Given the description of an element on the screen output the (x, y) to click on. 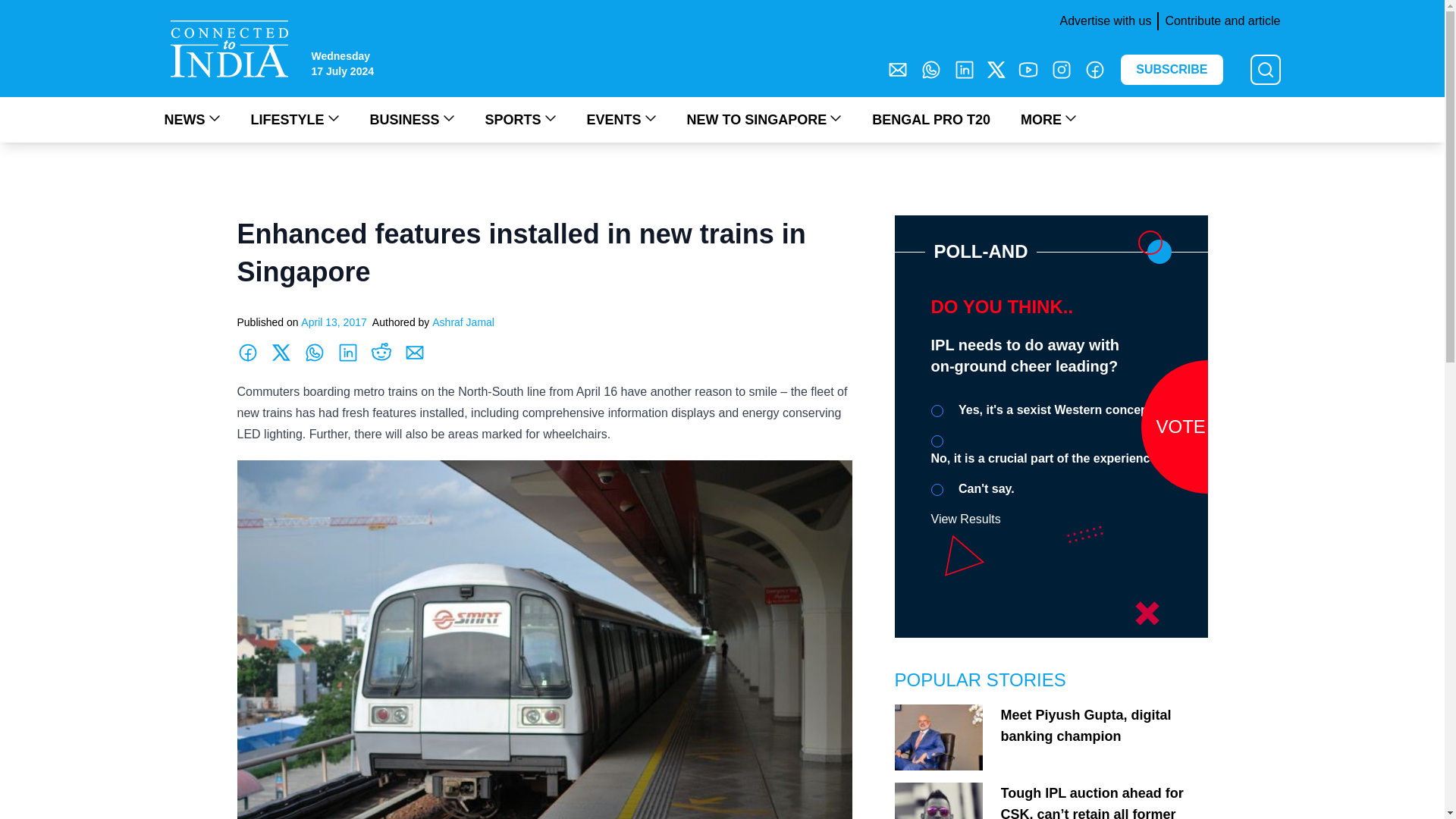
LIFESTYLE (294, 119)
LinkedIn (964, 69)
Youtube (1028, 69)
NEW TO SINGAPORE (765, 119)
Tweeter (996, 69)
Search (19, 9)
BUSINESS (411, 119)
View Results Of This Poll (966, 518)
EVENTS (621, 119)
Advertise with us (1101, 21)
Whatsapp (931, 69)
Instagram (1061, 69)
41 (937, 490)
Email us (897, 69)
40 (937, 440)
